Given the description of an element on the screen output the (x, y) to click on. 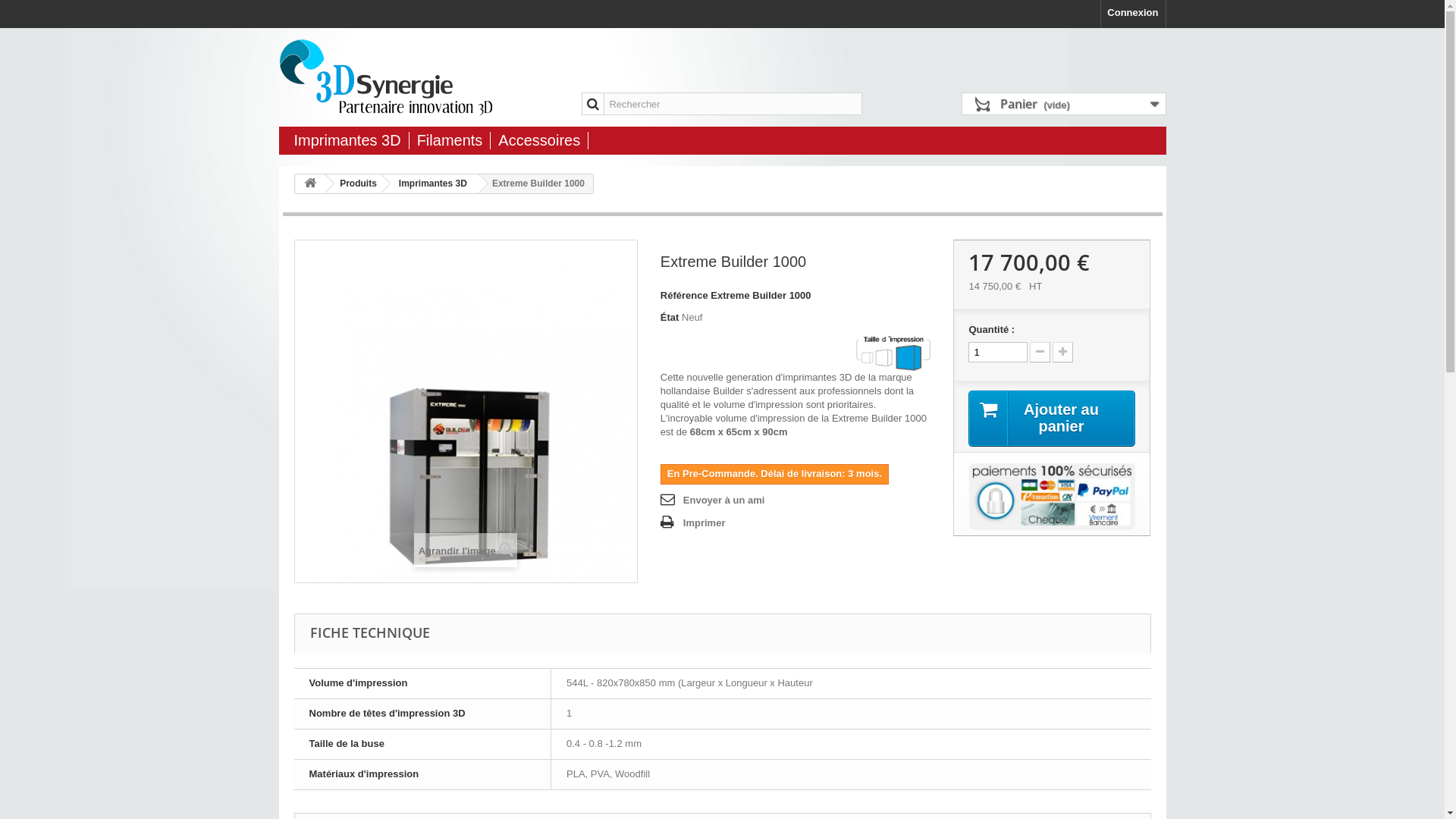
Produits Element type: text (355, 183)
Extreme Builder 1000 Element type: hover (465, 411)
Ajouter au panier Element type: text (1051, 418)
Imprimer Element type: text (692, 522)
Imprimantes 3D Element type: text (347, 139)
Connexion Element type: text (1132, 14)
3D Synergie Element type: hover (419, 77)
Imprimantes 3D Element type: text (430, 183)
Filaments Element type: text (450, 139)
Accessoires Element type: text (539, 139)
Panier (vide) Element type: text (1063, 103)
